Given the description of an element on the screen output the (x, y) to click on. 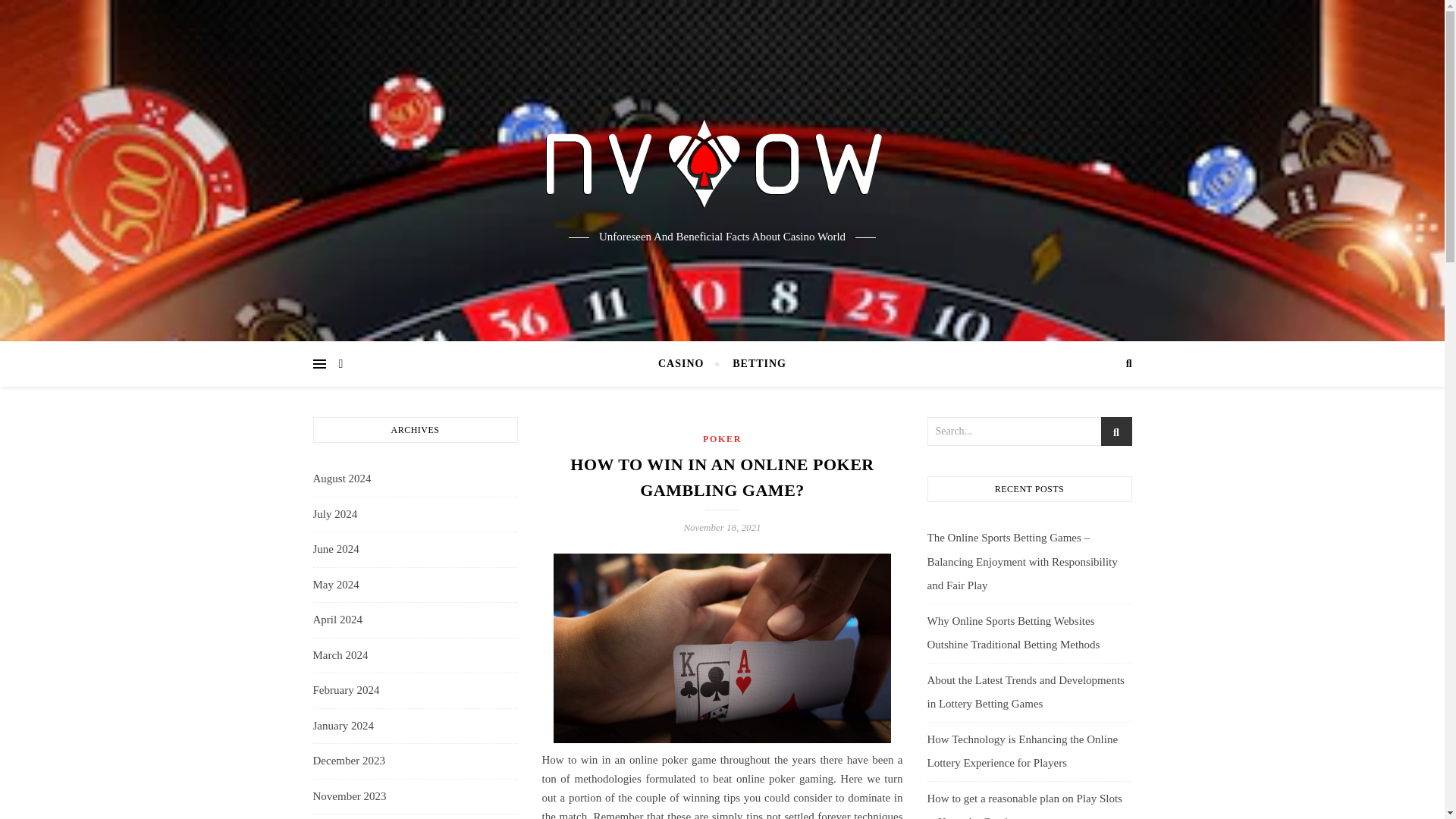
June 2024 (335, 549)
December 2023 (348, 761)
April 2024 (337, 620)
August 2024 (342, 478)
May 2024 (335, 585)
February 2024 (345, 690)
CASINO (687, 363)
July 2024 (334, 514)
March 2024 (340, 654)
January 2024 (342, 726)
